Given the description of an element on the screen output the (x, y) to click on. 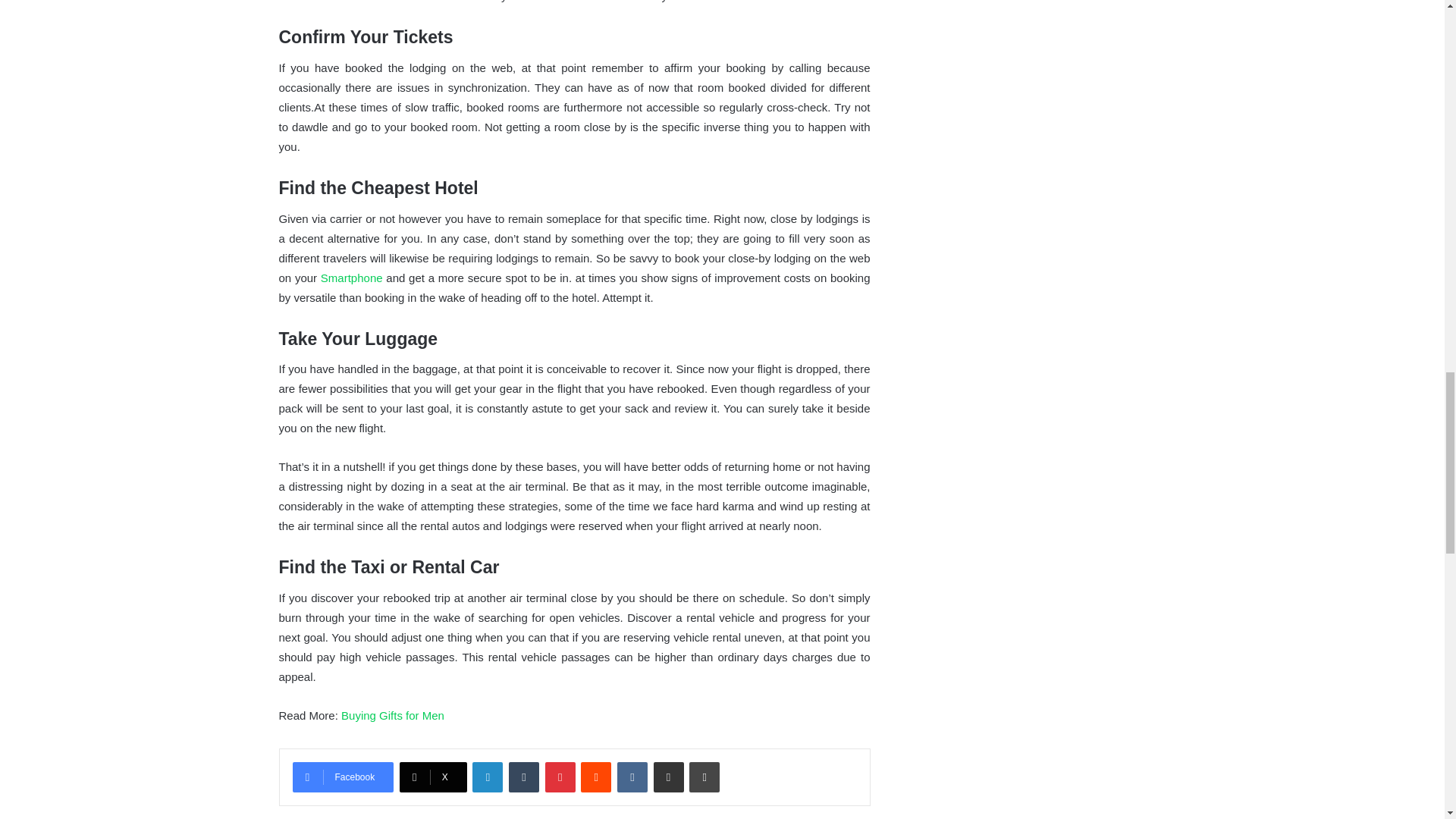
X (432, 777)
LinkedIn (486, 777)
Facebook (343, 777)
